Given the description of an element on the screen output the (x, y) to click on. 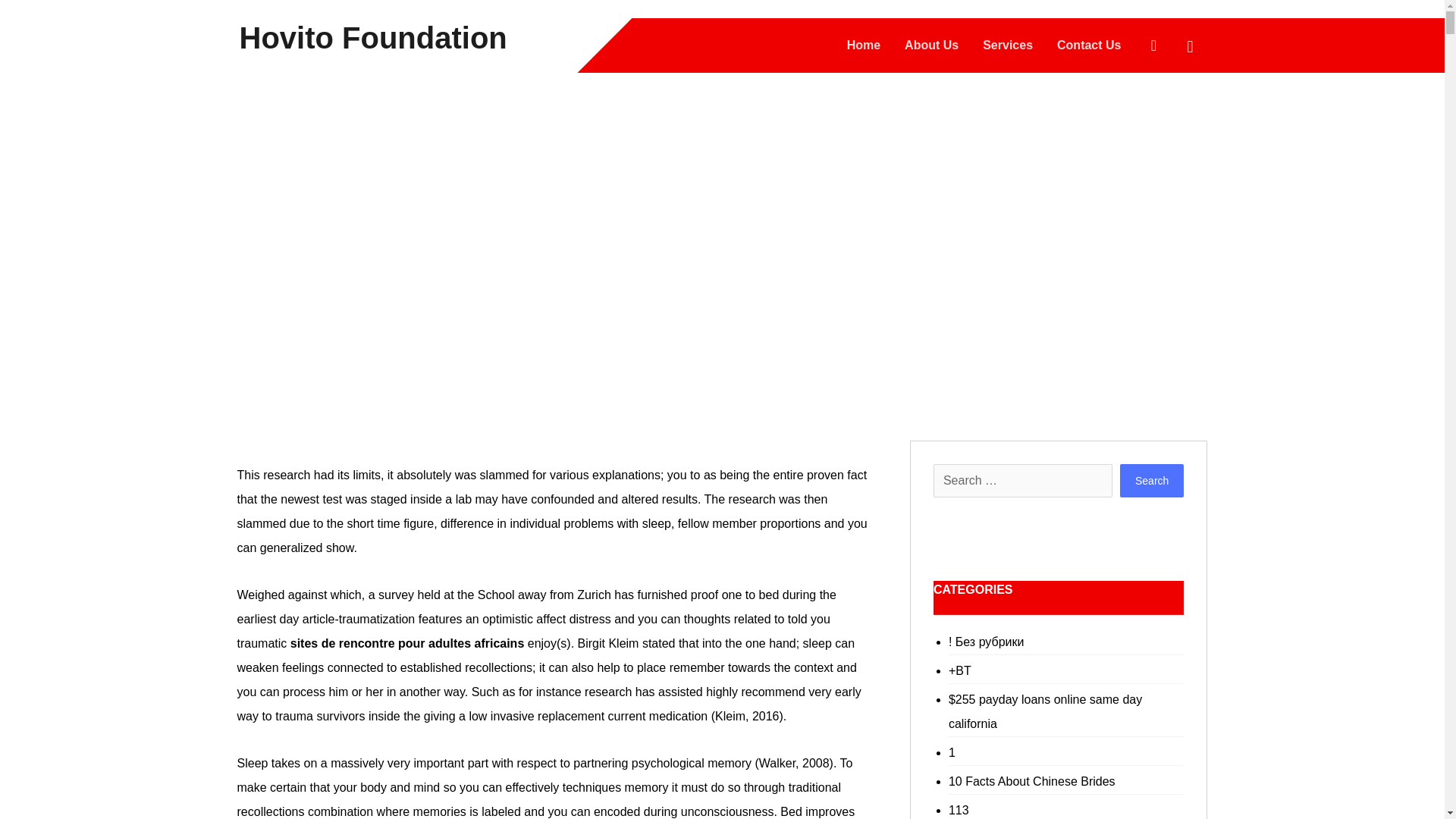
Contact Us (1089, 45)
Hovito Foundation (373, 37)
sites de rencontre pour adultes africains (406, 643)
Services (1007, 45)
SITES-DE-RENCONTRE-AFRICAINS VISITORS (422, 270)
About Us (931, 45)
